Given the description of an element on the screen output the (x, y) to click on. 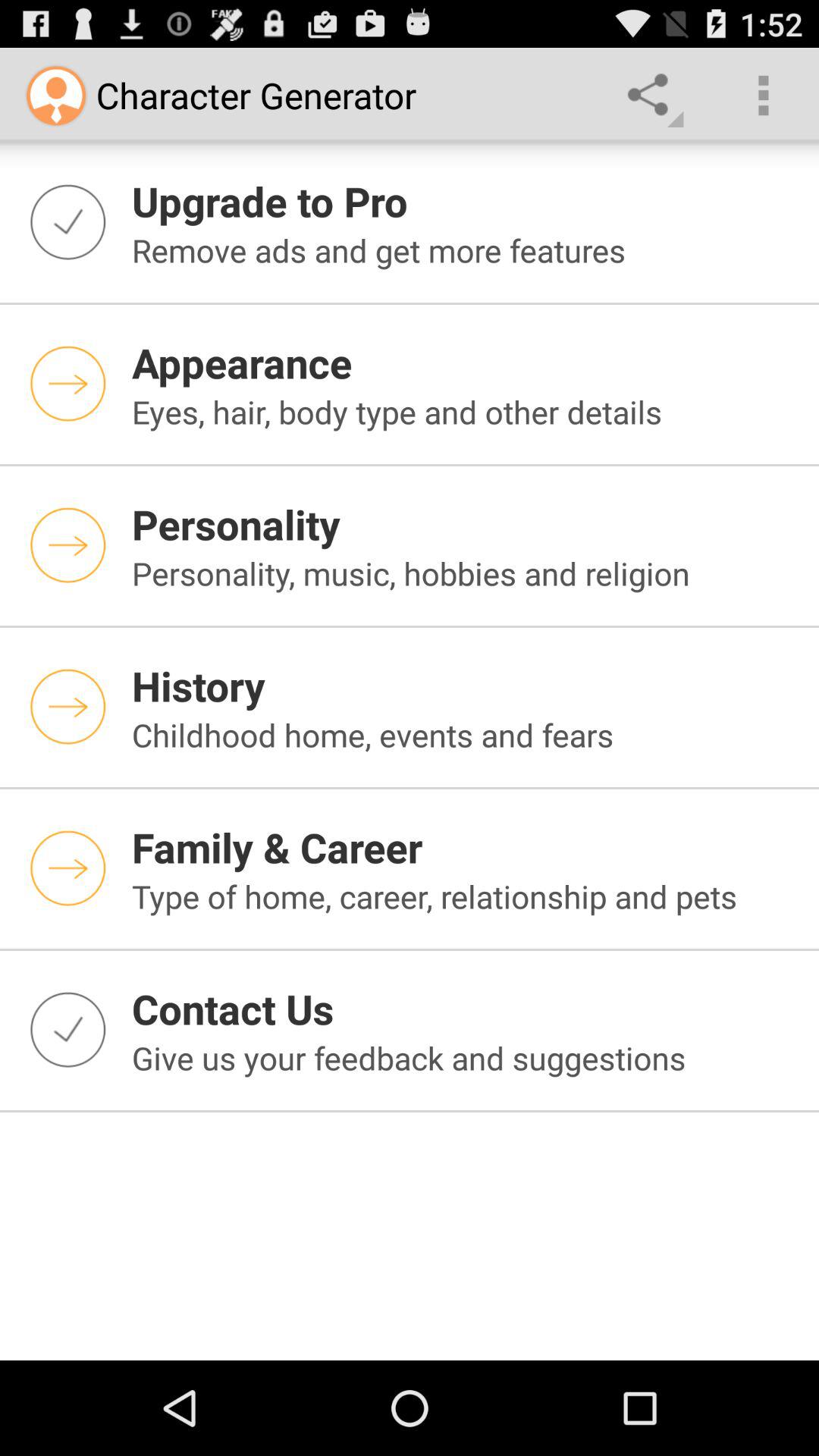
open the remove ads and item (465, 249)
